Given the description of an element on the screen output the (x, y) to click on. 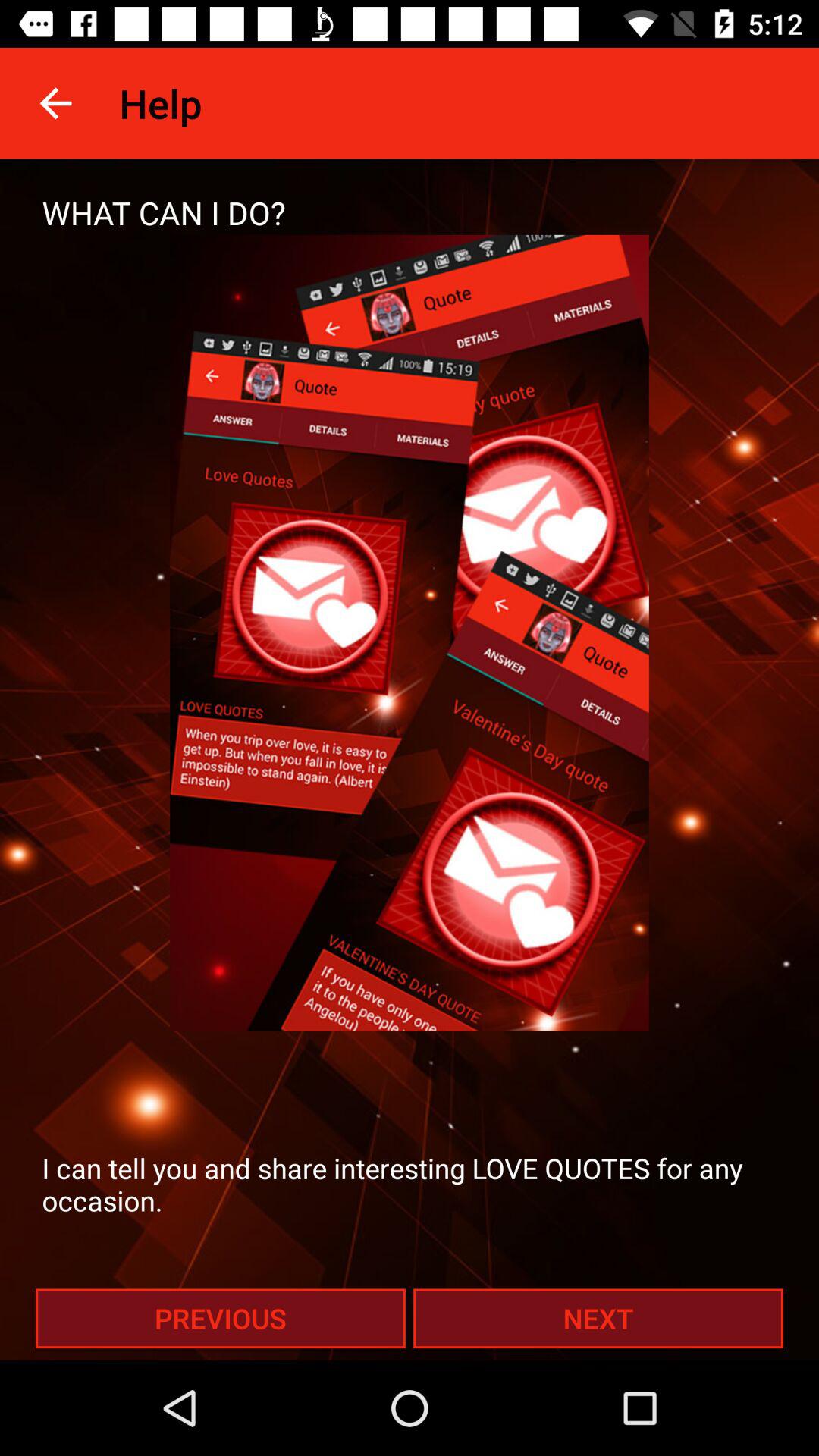
press the icon at the bottom left corner (220, 1318)
